Given the description of an element on the screen output the (x, y) to click on. 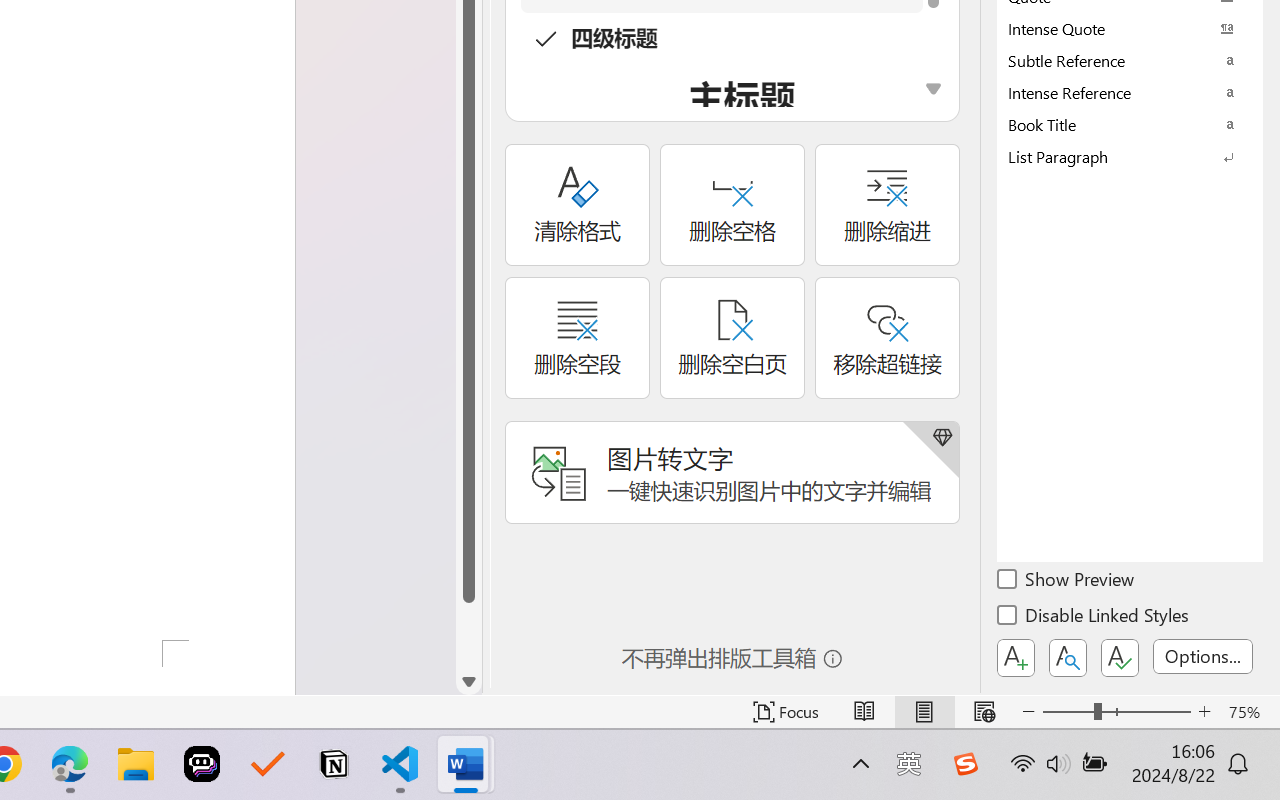
Page down (468, 635)
Read Mode (864, 712)
Intense Reference (1130, 92)
Line down (468, 681)
Web Layout (984, 712)
Zoom In (1204, 712)
Class: NetUIImage (1116, 156)
List Paragraph (1130, 156)
Focus  (786, 712)
Options... (1203, 656)
Zoom (1116, 712)
